Given the description of an element on the screen output the (x, y) to click on. 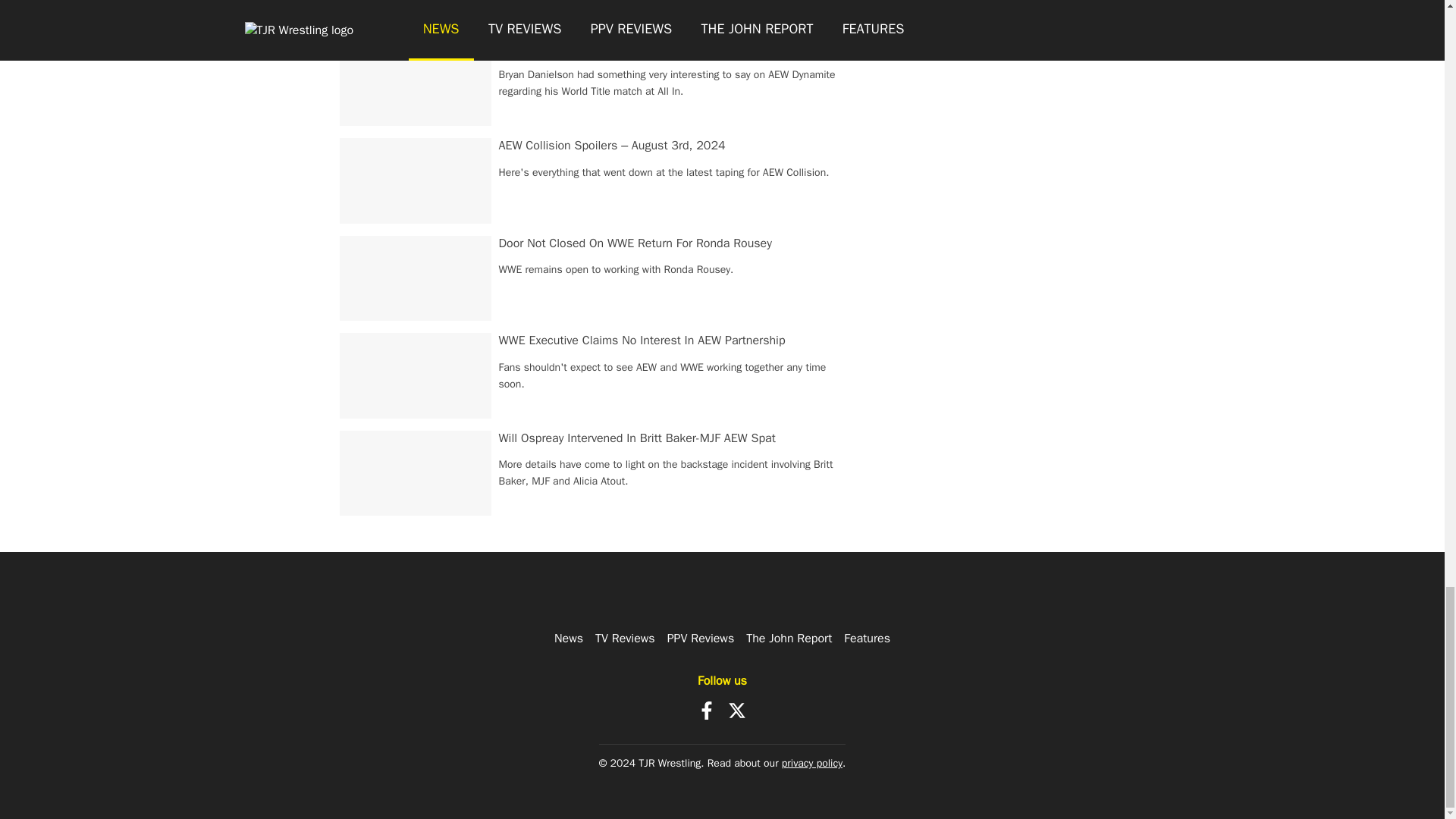
Door Not Closed On WWE Return For Ronda Rousey (635, 242)
X (736, 710)
WWE Executive Claims No Interest In AEW Partnership (642, 340)
Facebook (706, 710)
Bryan Danielson Adds Huge Stipulation To AEW All In Match (657, 48)
